Given the description of an element on the screen output the (x, y) to click on. 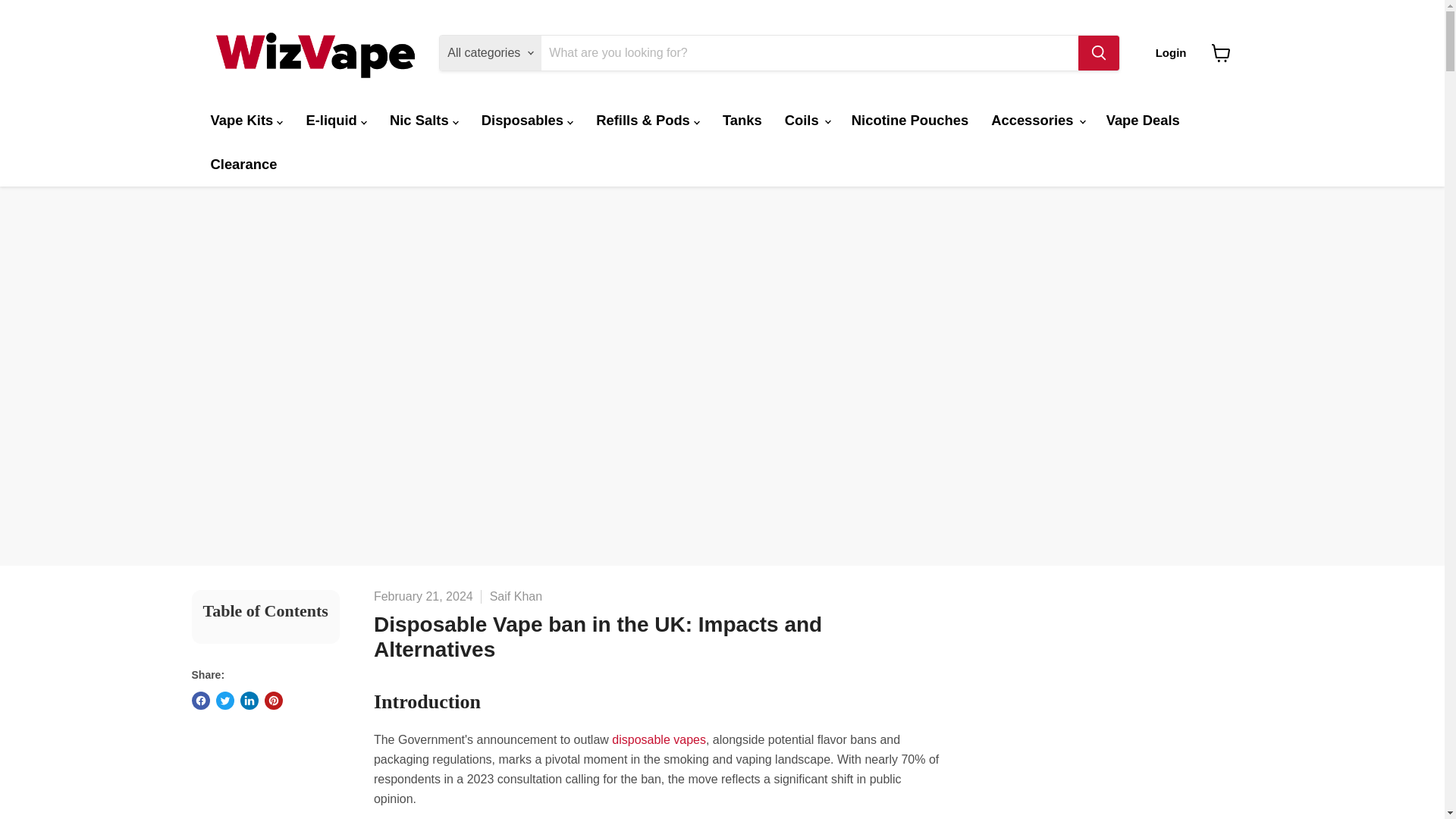
Disposable Vapes (658, 739)
Login (1171, 51)
View cart (1221, 52)
